Given the description of an element on the screen output the (x, y) to click on. 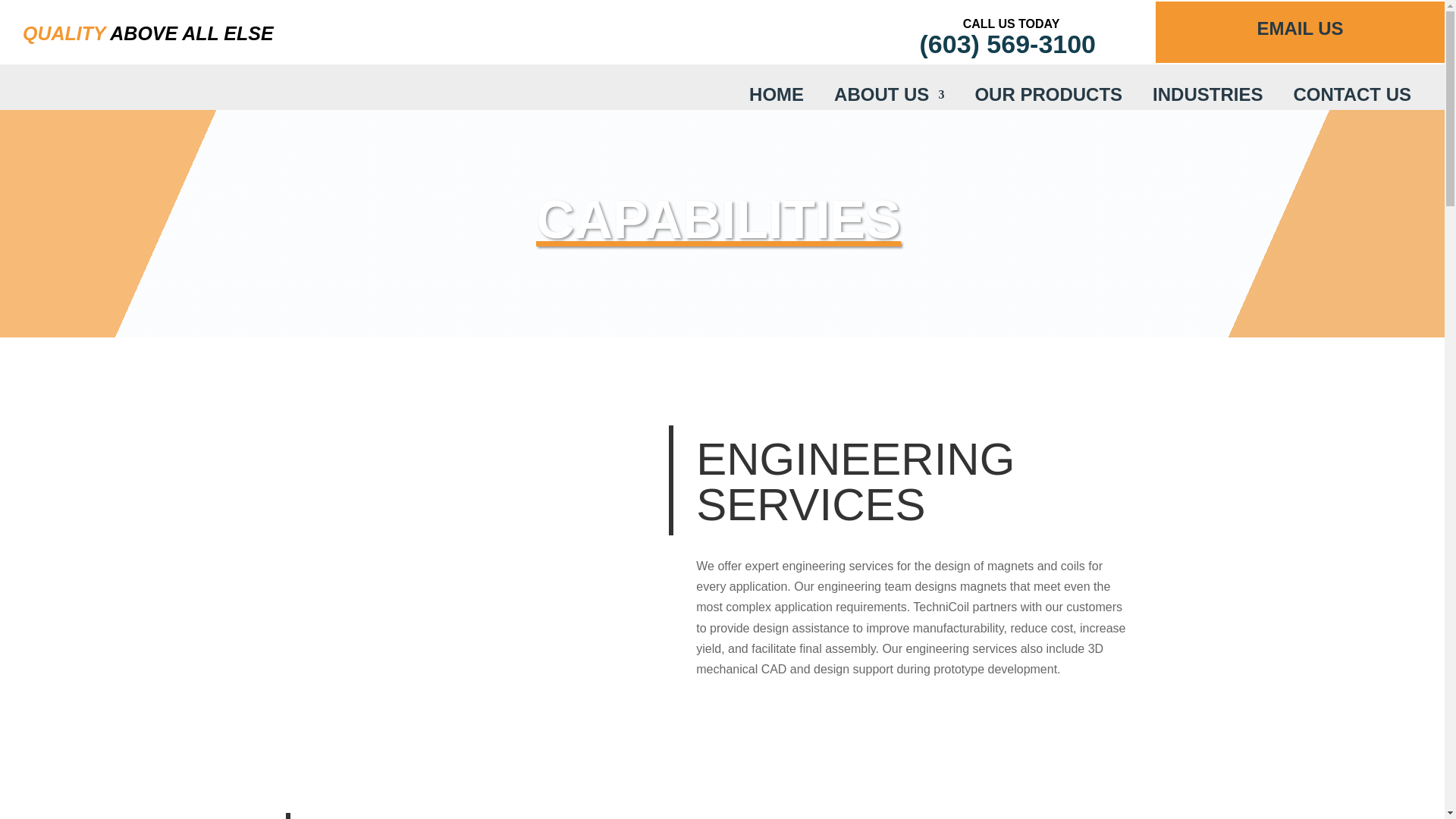
OUR PRODUCTS (1048, 97)
HOME (776, 97)
EMAIL US (1299, 26)
CONTACT US (1351, 97)
INDUSTRIES (1207, 97)
ABOUT US (888, 97)
